Given the description of an element on the screen output the (x, y) to click on. 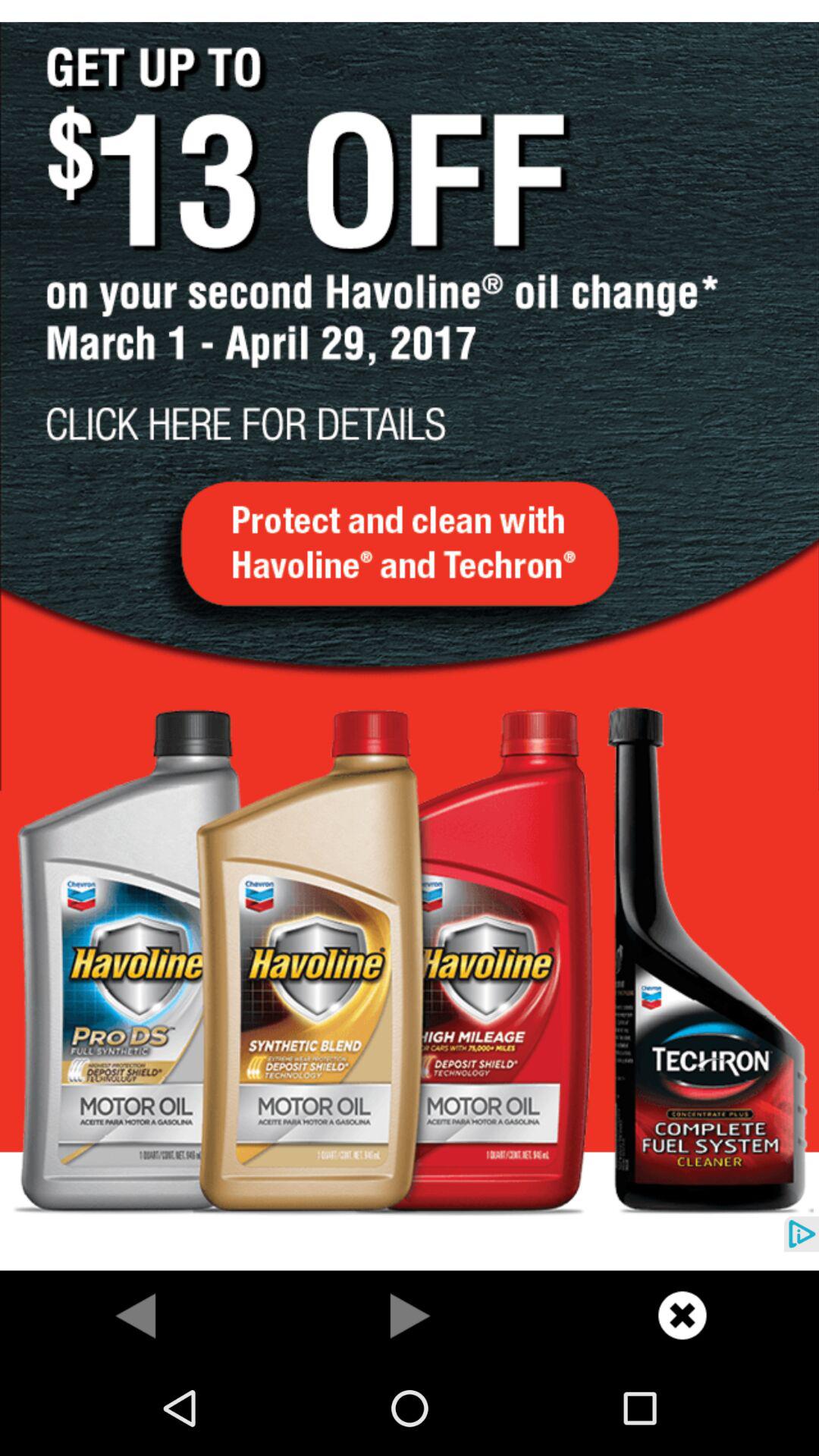
go to cancel (682, 1315)
